Given the description of an element on the screen output the (x, y) to click on. 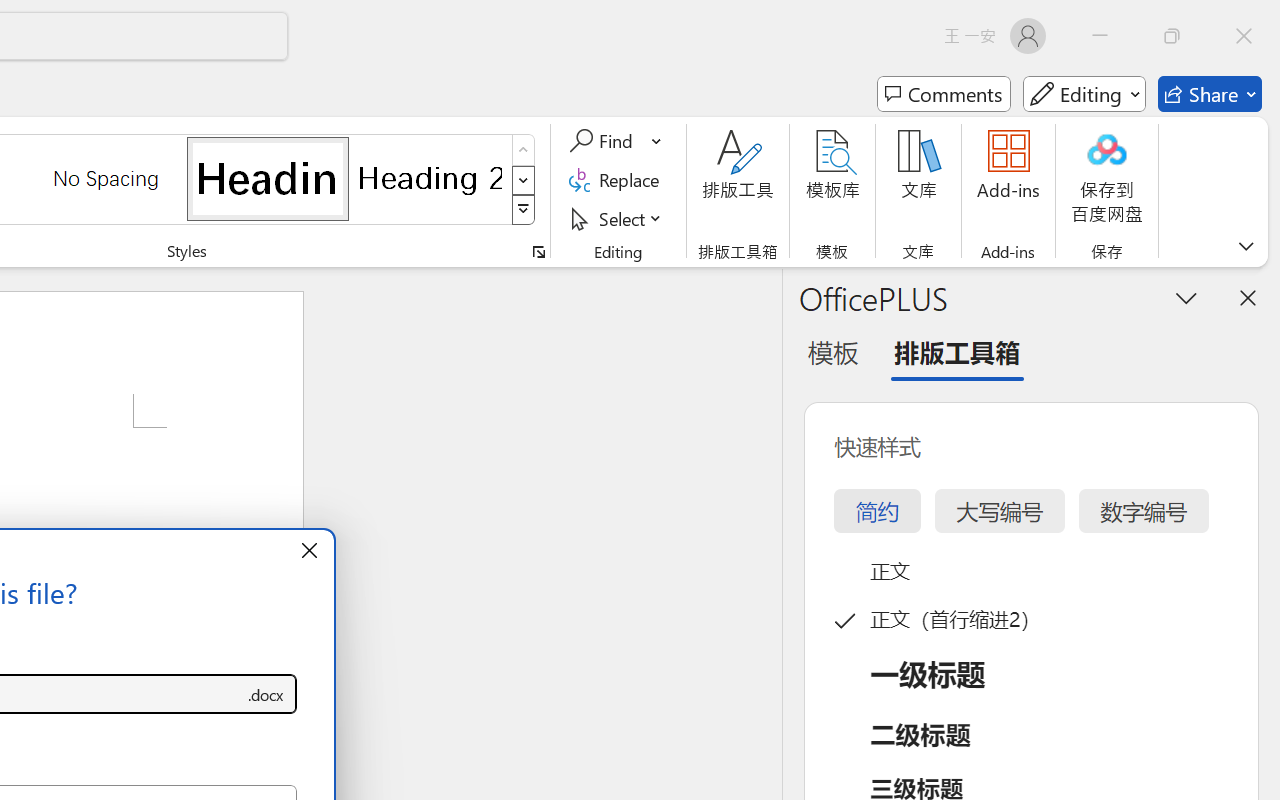
Save as type (265, 694)
